Given the description of an element on the screen output the (x, y) to click on. 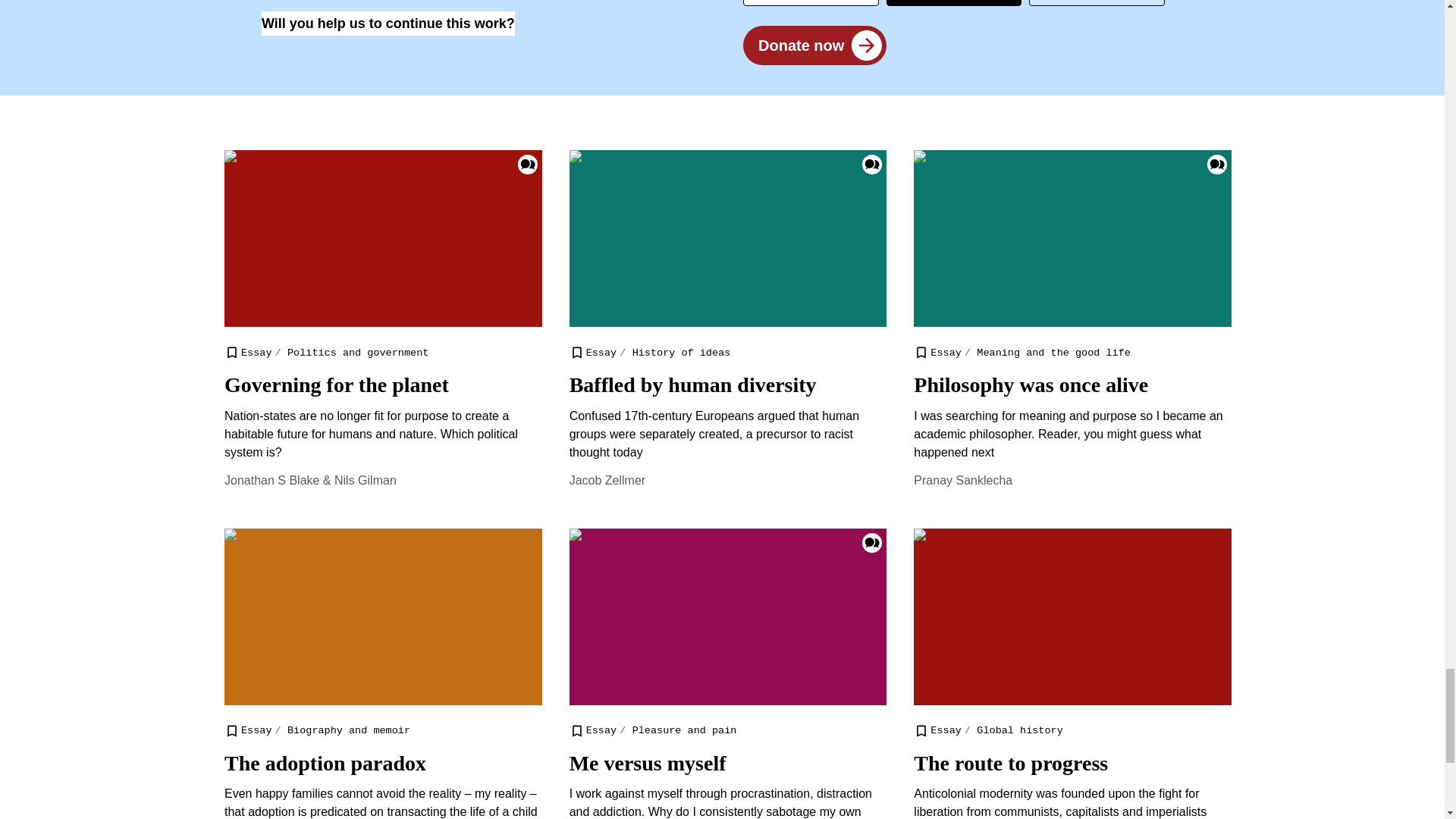
Donate now (814, 45)
Donate now (814, 48)
